Given the description of an element on the screen output the (x, y) to click on. 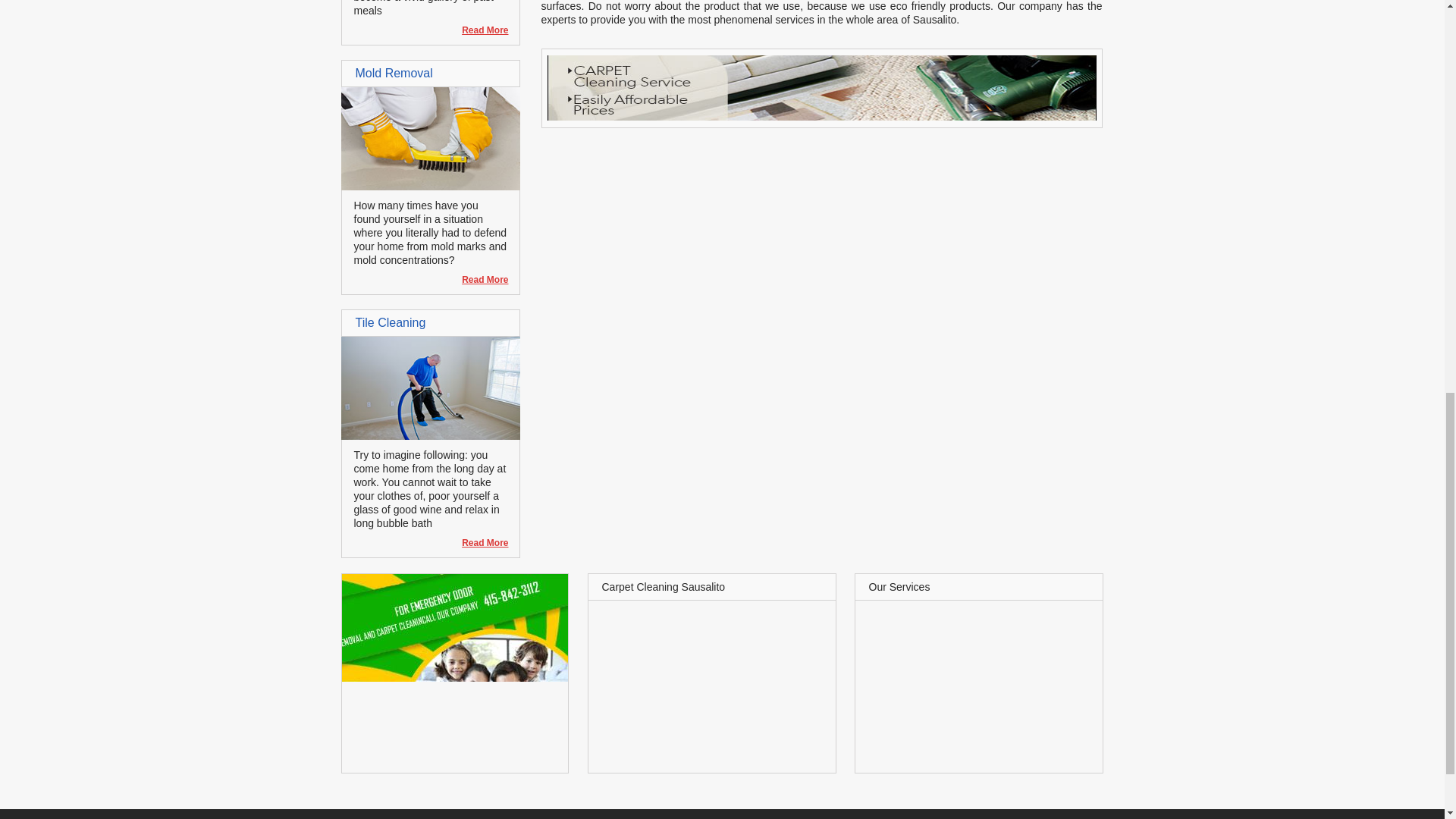
Read More (477, 542)
Tile Cleaning (390, 322)
Read More (477, 280)
Read More (477, 280)
Read More (477, 30)
Tile Cleaning (429, 435)
Mold Removal (393, 72)
Mold Removal (429, 186)
Read More (477, 30)
Banner (821, 116)
